Given the description of an element on the screen output the (x, y) to click on. 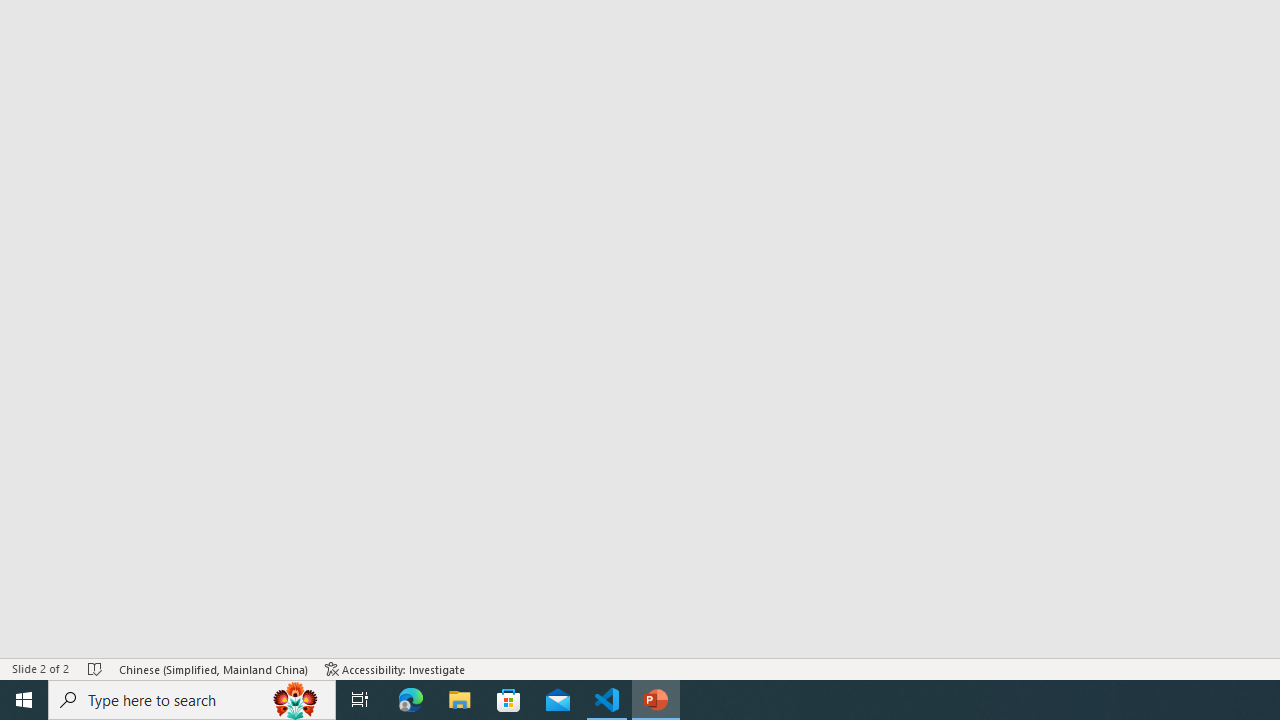
Accessibility Checker Accessibility: Investigate (395, 668)
Spell Check No Errors (95, 668)
